Given the description of an element on the screen output the (x, y) to click on. 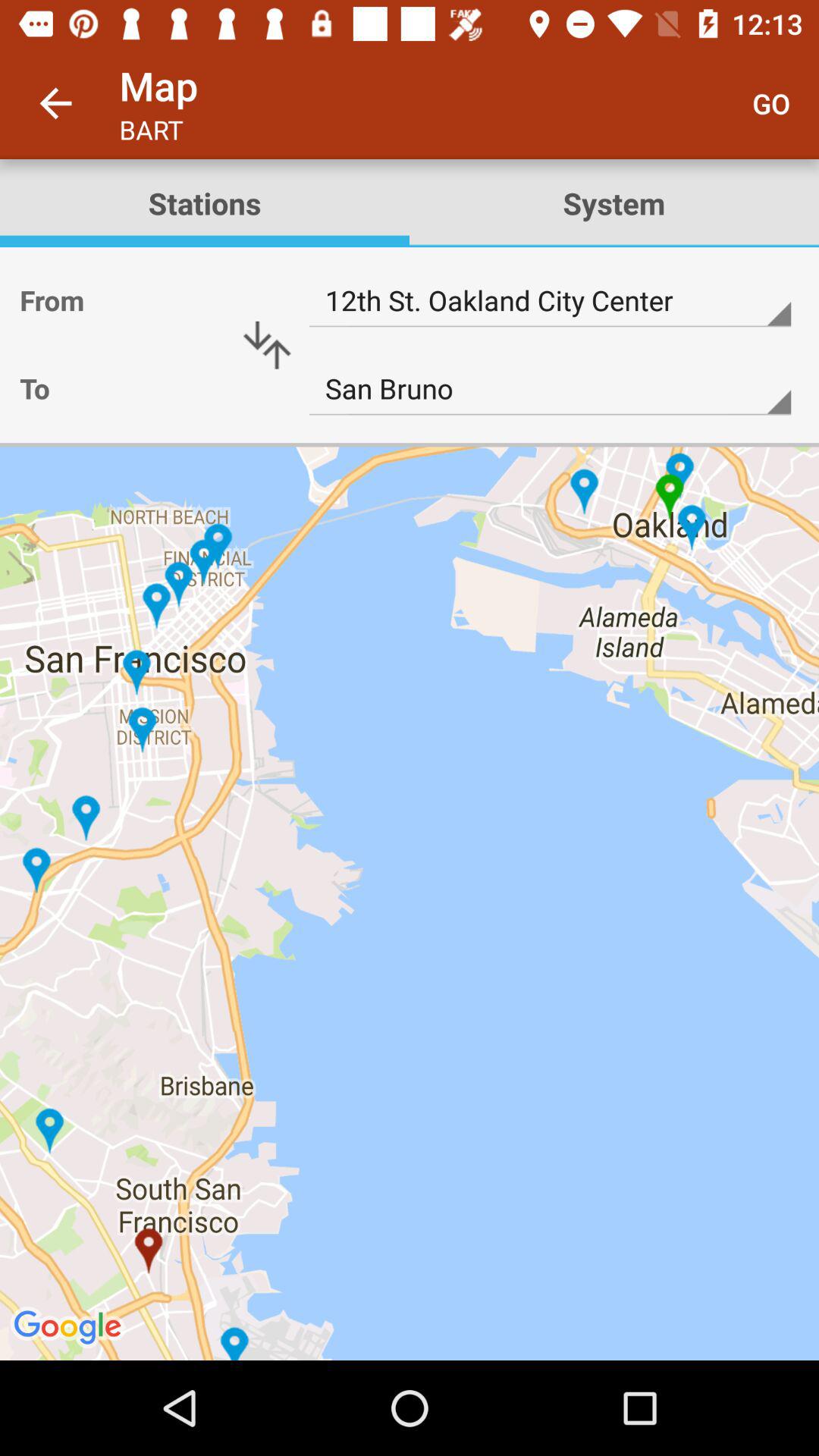
tap item next to stations (771, 103)
